Given the description of an element on the screen output the (x, y) to click on. 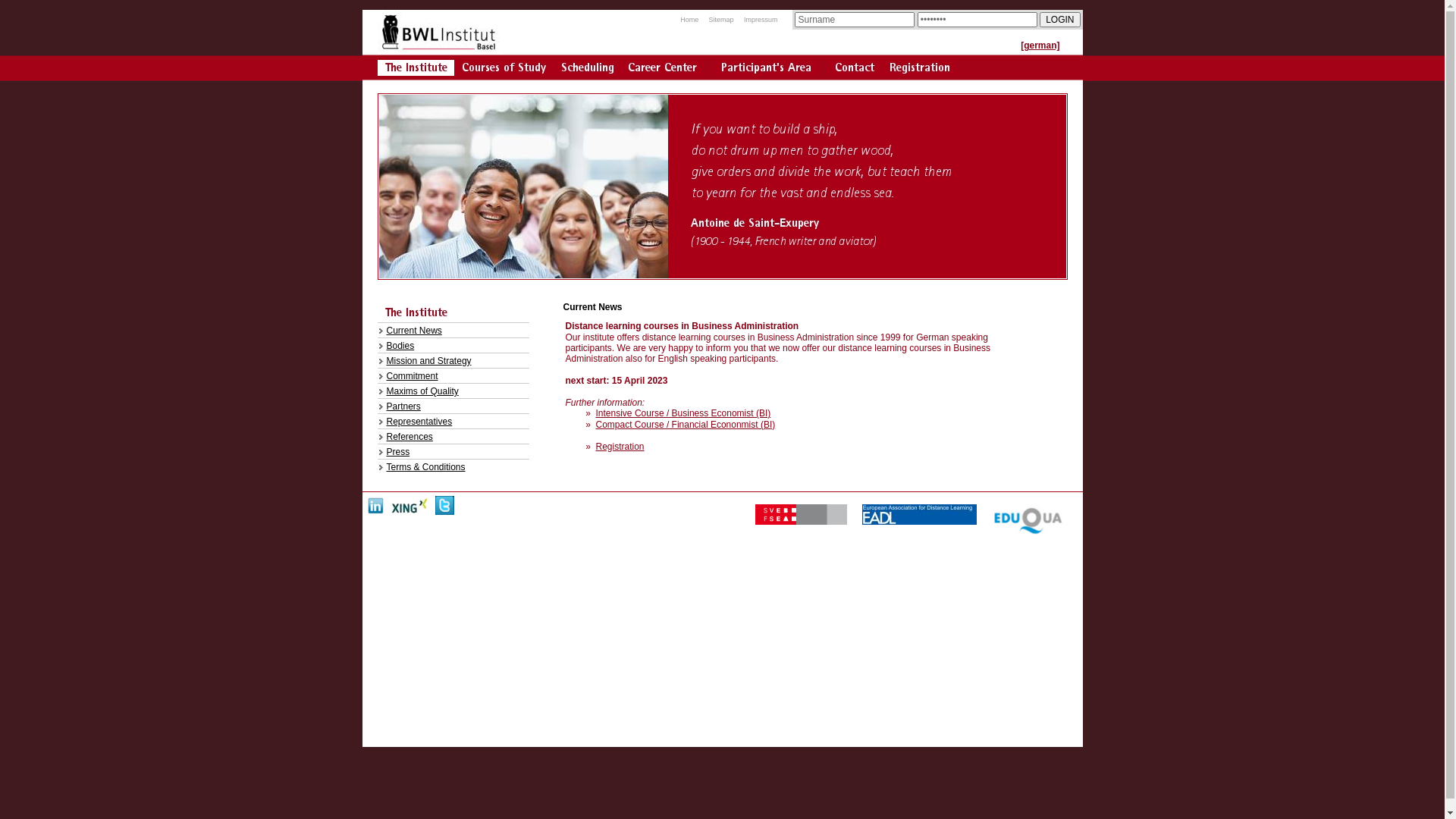
The Institute Element type: hover (415, 312)
Representatives Element type: text (453, 420)
LOGIN Element type: text (1059, 19)
Participant's Area Element type: hover (765, 67)
Terms & Conditions Element type: text (453, 465)
Maxims of Quality Element type: text (453, 390)
give orders and divide the work, but teach them     Element type: hover (826, 170)
Partners Element type: text (453, 405)
Home Element type: text (689, 19)
Contact Element type: hover (854, 70)
Courses of Study Element type: hover (502, 70)
Sitemap Element type: text (721, 19)
Press Element type: text (453, 450)
Current News Element type: text (453, 329)
Registration Element type: hover (918, 67)
References Element type: text (453, 435)
[german] Element type: text (1051, 50)
Compact Course / Financial Econonmist (BI) Element type: text (685, 424)
to yearn for the vast and endless sea.    Element type: hover (795, 191)
Career Center Element type: hover (661, 67)
Antoine de Saint-Exupery   Element type: hover (757, 222)
The Institute Element type: hover (415, 70)
Surname Element type: text (854, 19)
Contact Element type: hover (854, 67)
Bodies Element type: text (453, 344)
Mission and Strategy Element type: text (453, 359)
If you want to build a ship,   Element type: hover (765, 127)
Participant's Area Element type: hover (765, 70)
Commitment Element type: text (453, 374)
Registration Element type: text (620, 446)
Courses of Study Element type: hover (502, 67)
Intensive Course / Business Economist (BI) Element type: text (683, 412)
The Institute Element type: hover (453, 312)
do not drum up men to gather wood,    Element type: hover (795, 149)
Scheduling Element type: hover (586, 70)
The Institute Element type: hover (415, 67)
(1900 - 1944, French writer and aviator)   Element type: hover (784, 240)
Registration Element type: hover (918, 70)
Career Center Element type: hover (661, 70)
Impressum Element type: text (760, 19)
Password Element type: text (977, 19)
Scheduling Element type: hover (586, 67)
